Given the description of an element on the screen output the (x, y) to click on. 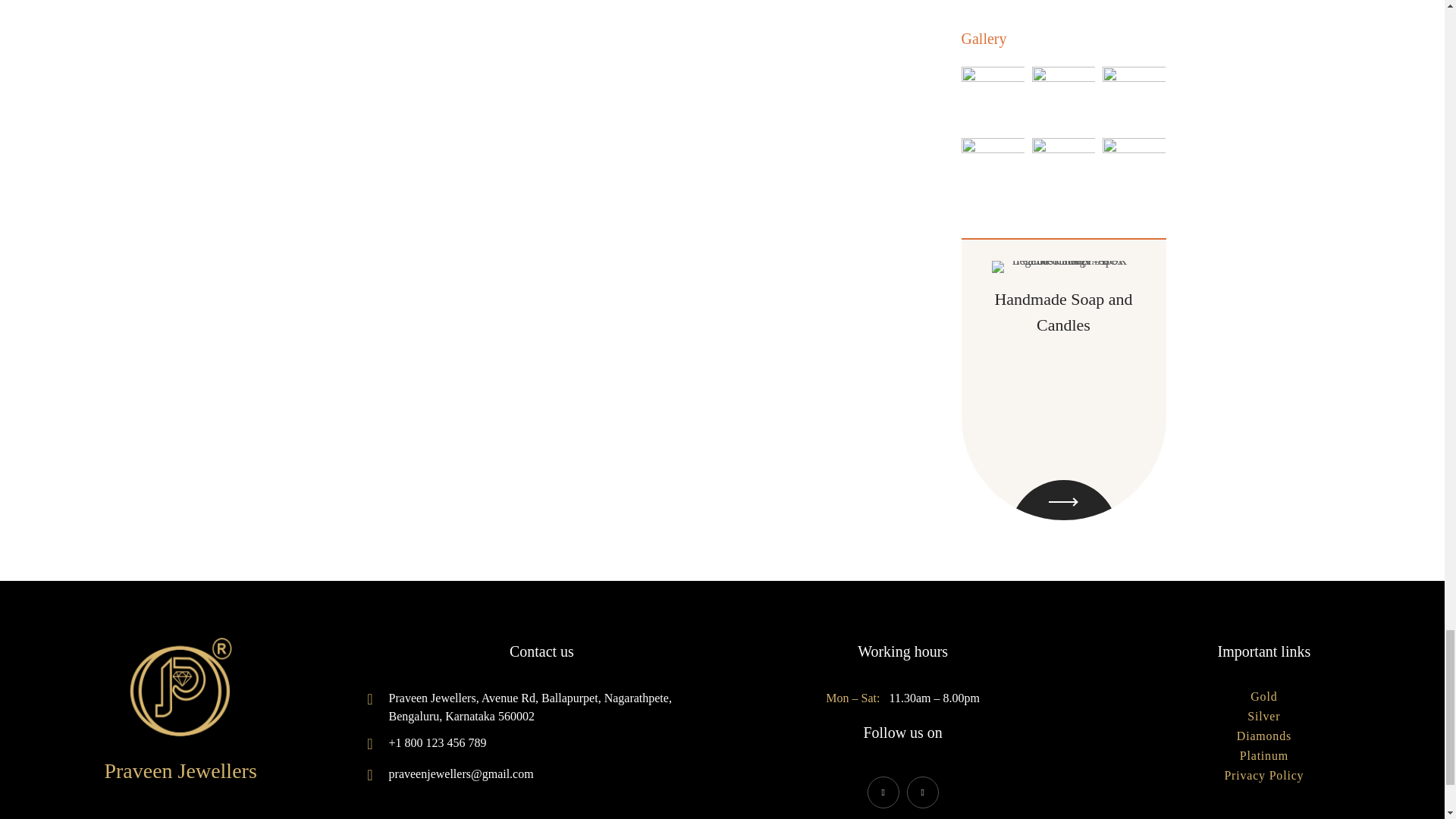
Facebook (883, 792)
Instagram (923, 792)
